Given the description of an element on the screen output the (x, y) to click on. 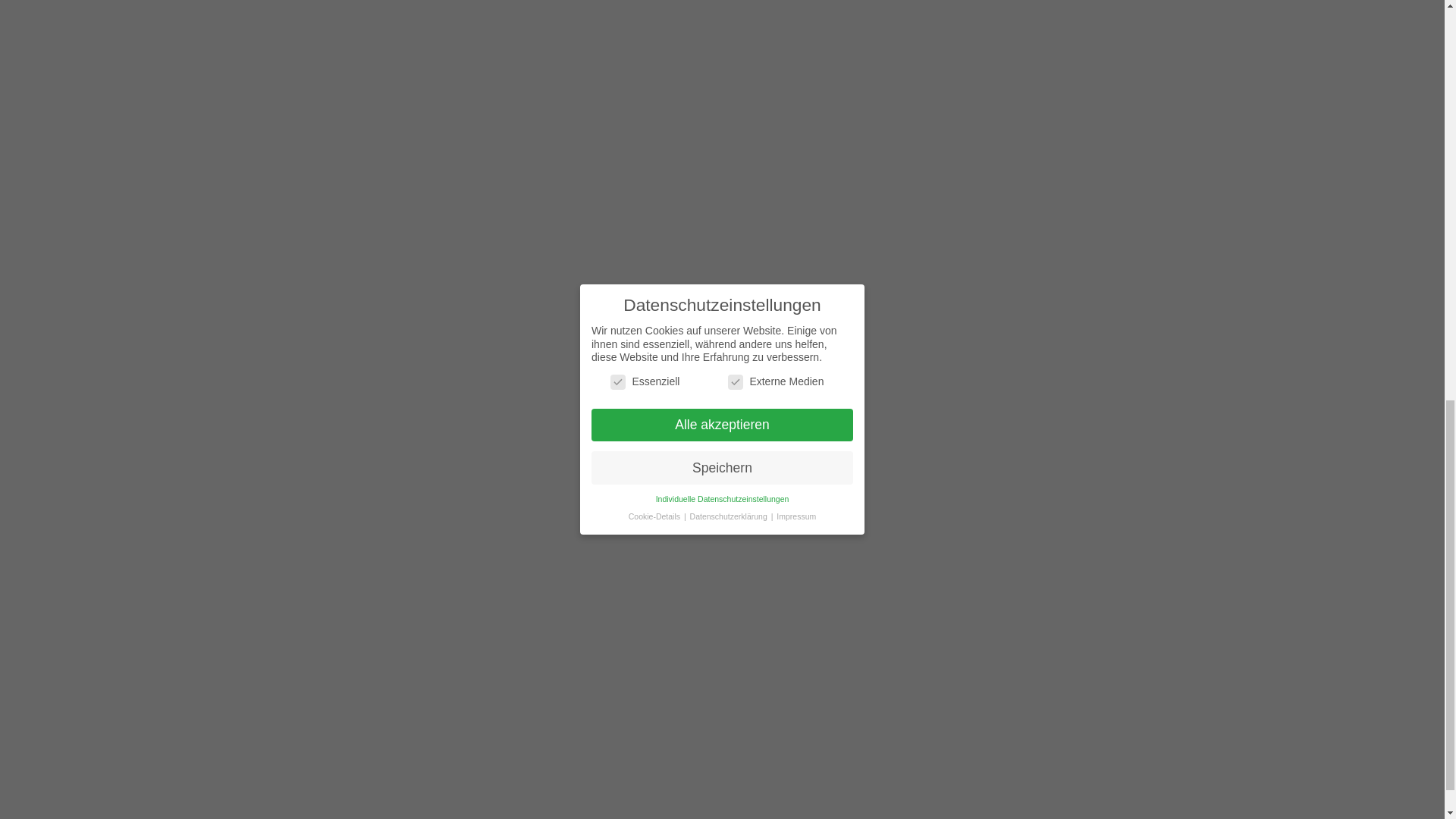
DanielGab (451, 349)
Channa Bleheri Geschlecht (1120, 106)
Gachua FO Inlesee - Der Nano-Channa (1020, 106)
